Given the description of an element on the screen output the (x, y) to click on. 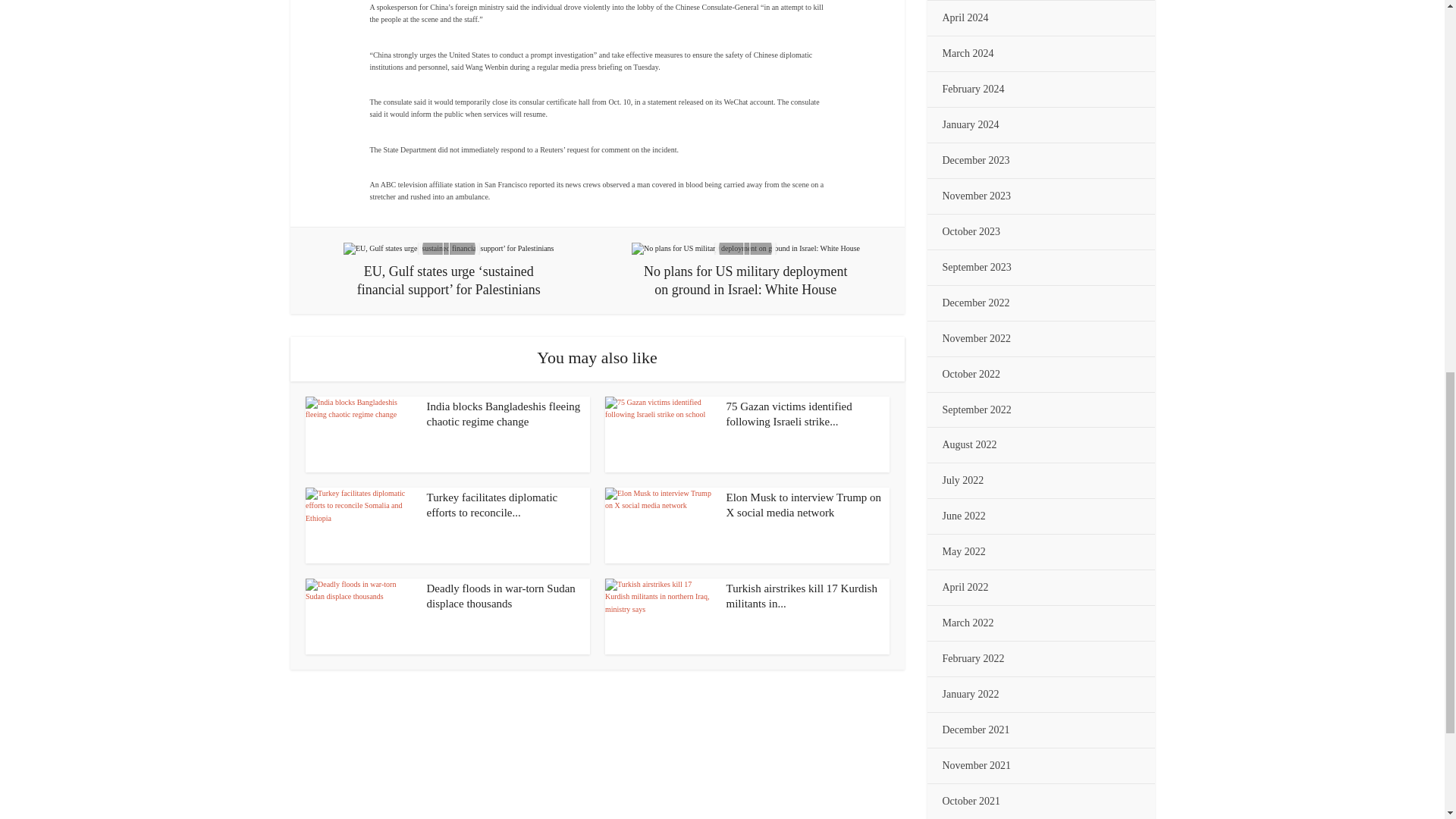
India blocks Bangladeshis fleeing chaotic regime change (359, 434)
India blocks Bangladeshis fleeing chaotic regime change (502, 413)
India blocks Bangladeshis fleeing chaotic regime change (502, 413)
